Given the description of an element on the screen output the (x, y) to click on. 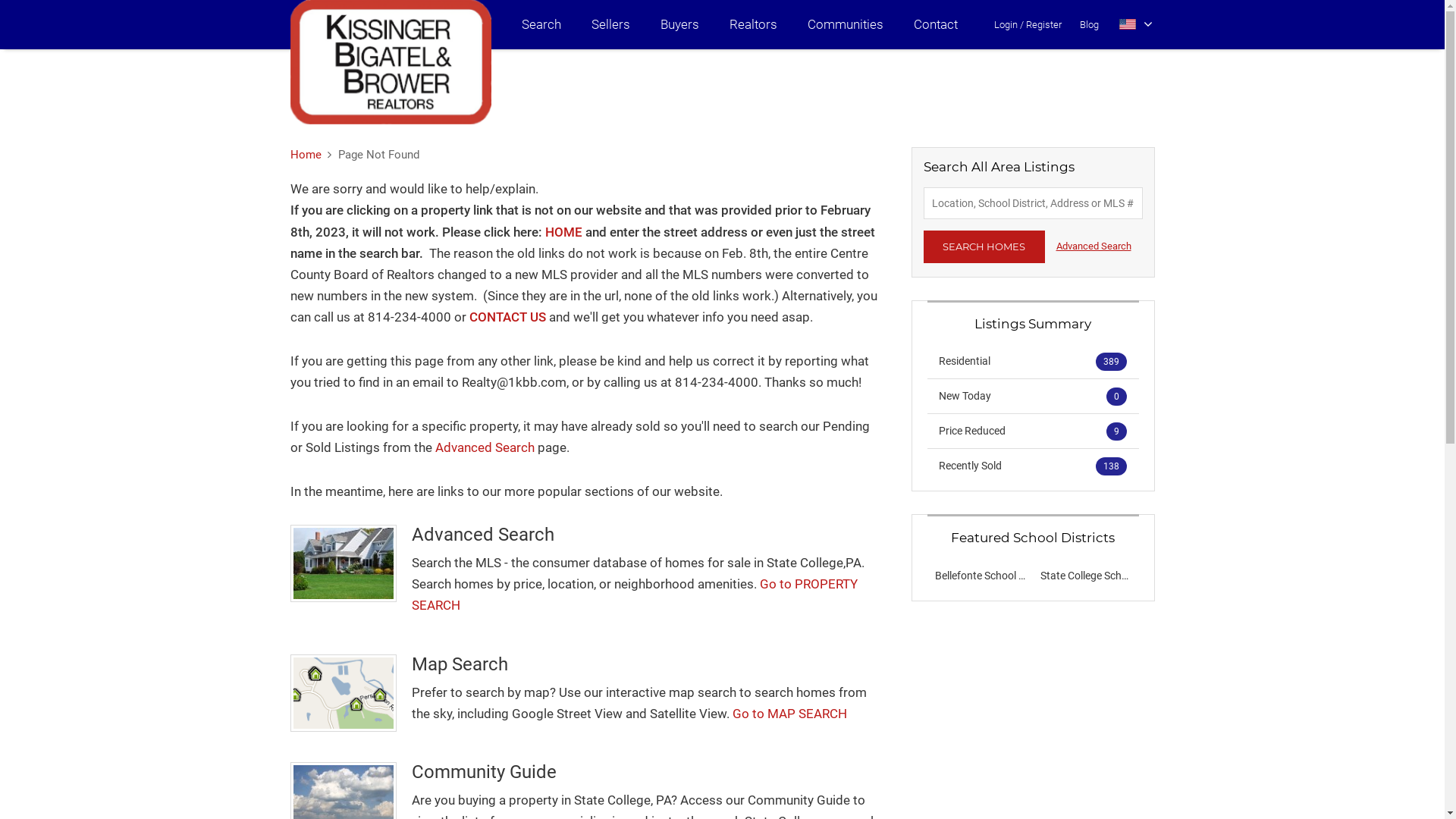
Recently Sold
138 Element type: text (1032, 465)
Communities Element type: text (844, 24)
Go to MAP SEARCH Element type: text (789, 713)
Contact Element type: text (934, 24)
New Today
0 Element type: text (1032, 395)
HOME Element type: text (562, 231)
Blog Element type: text (1088, 24)
Realtors Element type: text (753, 24)
State College School District - Homes for Sale Element type: text (1145, 575)
Search by map Element type: hover (342, 692)
Login/ Element type: text (1009, 24)
Go to PROPERTY SEARCH Element type: text (633, 594)
SEARCH HOMES Element type: text (983, 246)
Advanced Search Element type: text (1092, 246)
Enter Location, School District, Address or MLS # Element type: hover (1032, 203)
Home Element type: text (304, 154)
Select Language Element type: hover (1135, 24)
Sellers Element type: text (610, 24)
CONTACT US Element type: text (506, 316)
Advanced Search Element type: text (484, 447)
Search Element type: text (541, 24)
Buyers Element type: text (678, 24)
Register Element type: text (1042, 24)
Residential
389 Element type: text (1032, 361)
Price Reduced
9 Element type: text (1032, 430)
Bellefonte School District - Homes for Sale Element type: text (1031, 575)
